Given the description of an element on the screen output the (x, y) to click on. 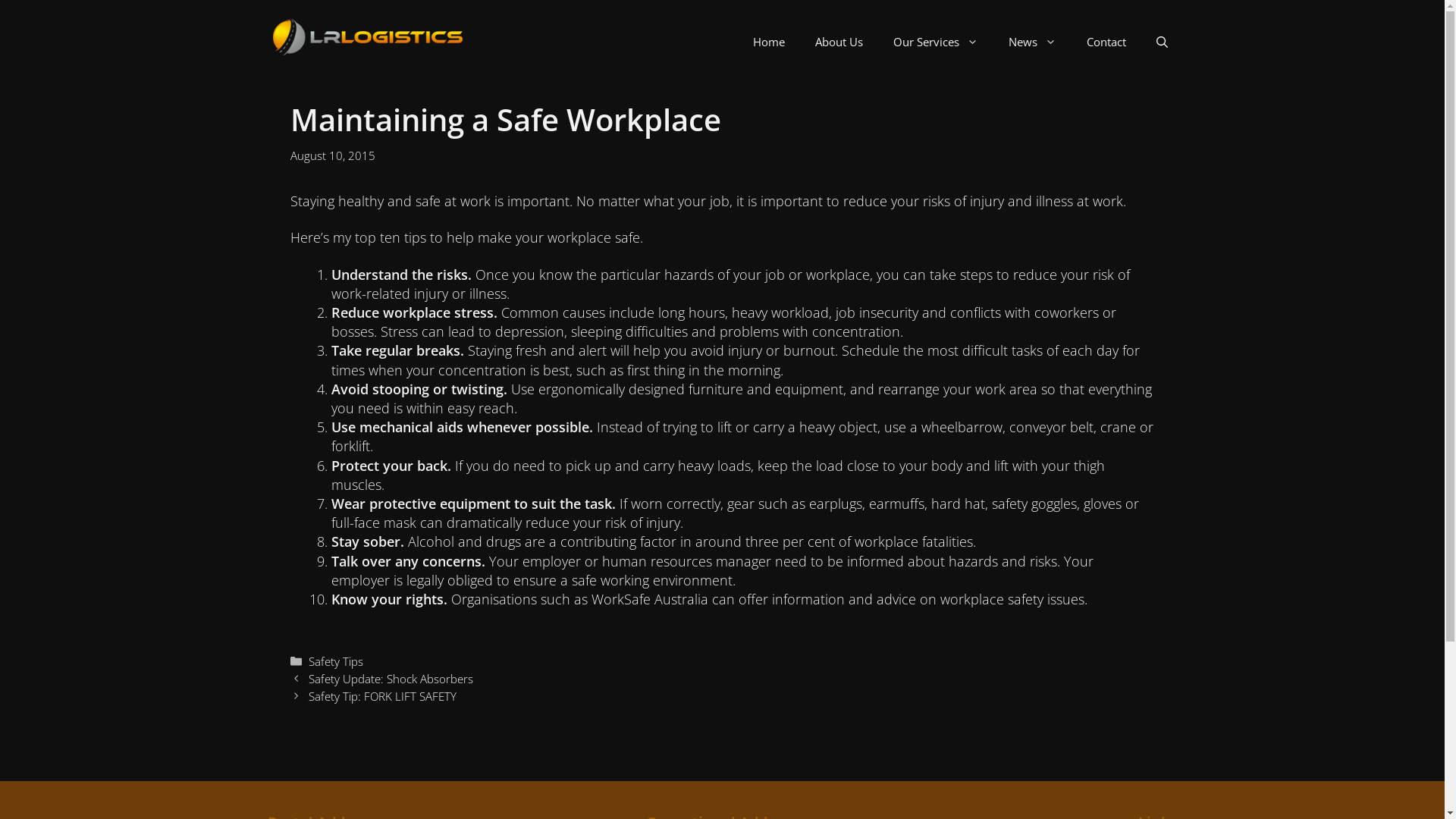
Safety Update: Shock Absorbers Element type: text (390, 678)
Home Element type: text (768, 41)
Contact Element type: text (1106, 41)
News Element type: text (1032, 41)
About Us Element type: text (839, 41)
Our Services Element type: text (935, 41)
Safety Tip: FORK LIFT SAFETY Element type: text (382, 695)
Safety Tips Element type: text (335, 660)
